Given the description of an element on the screen output the (x, y) to click on. 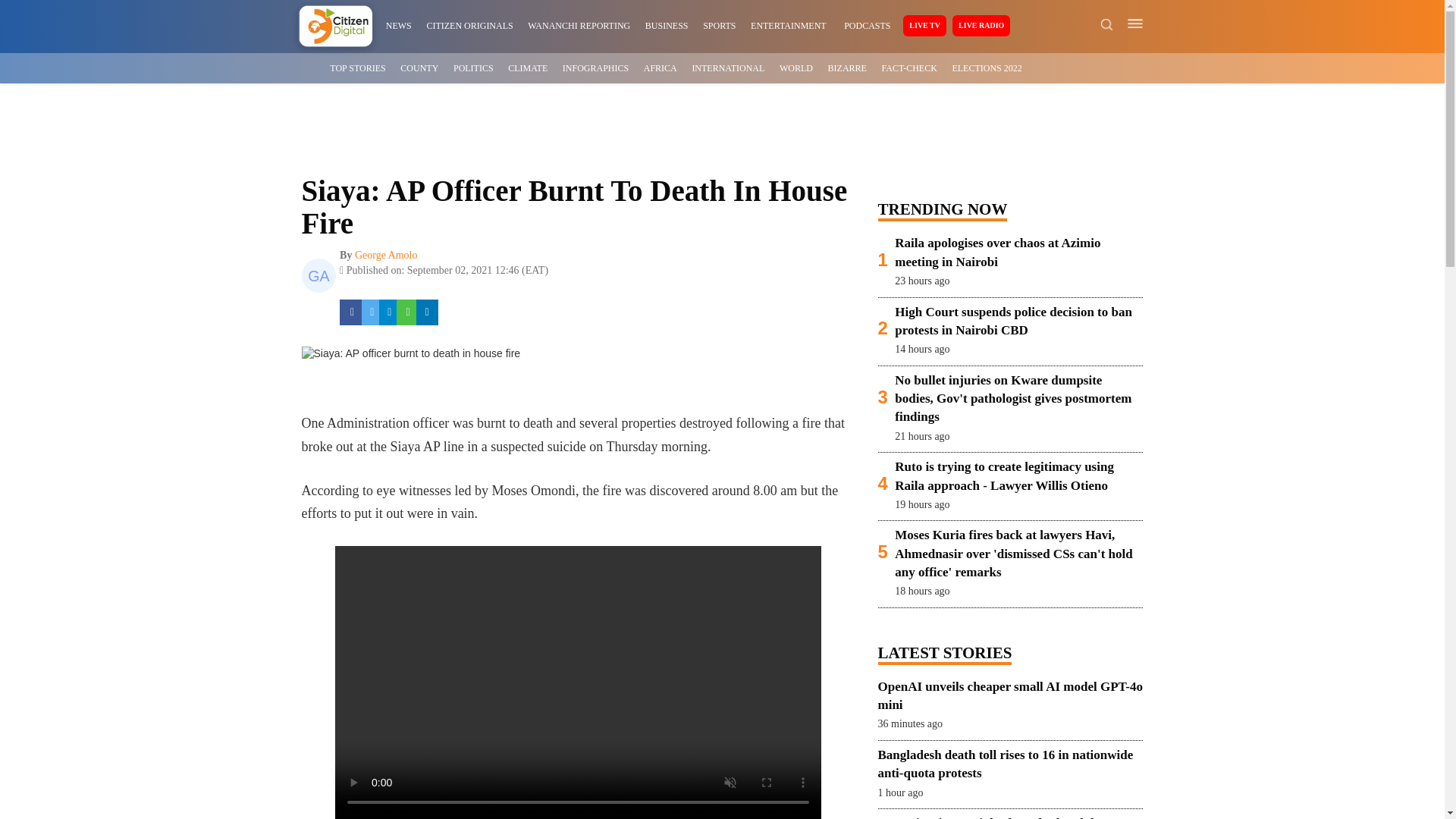
OpenAI unveils cheaper small AI model GPT-4o mini (1009, 696)
LIVE TV (924, 25)
Siaya: AP officer burnt to death in house fire (411, 353)
ELECTIONS 2022 (987, 68)
CITIZEN ORIGINALS (469, 25)
COUNTY (419, 68)
George Amolo (386, 255)
3rd party ad content (722, 130)
NEWS (398, 25)
TOP STORIES (357, 68)
PODCASTS (866, 25)
CLIMATE (527, 68)
